Given the description of an element on the screen output the (x, y) to click on. 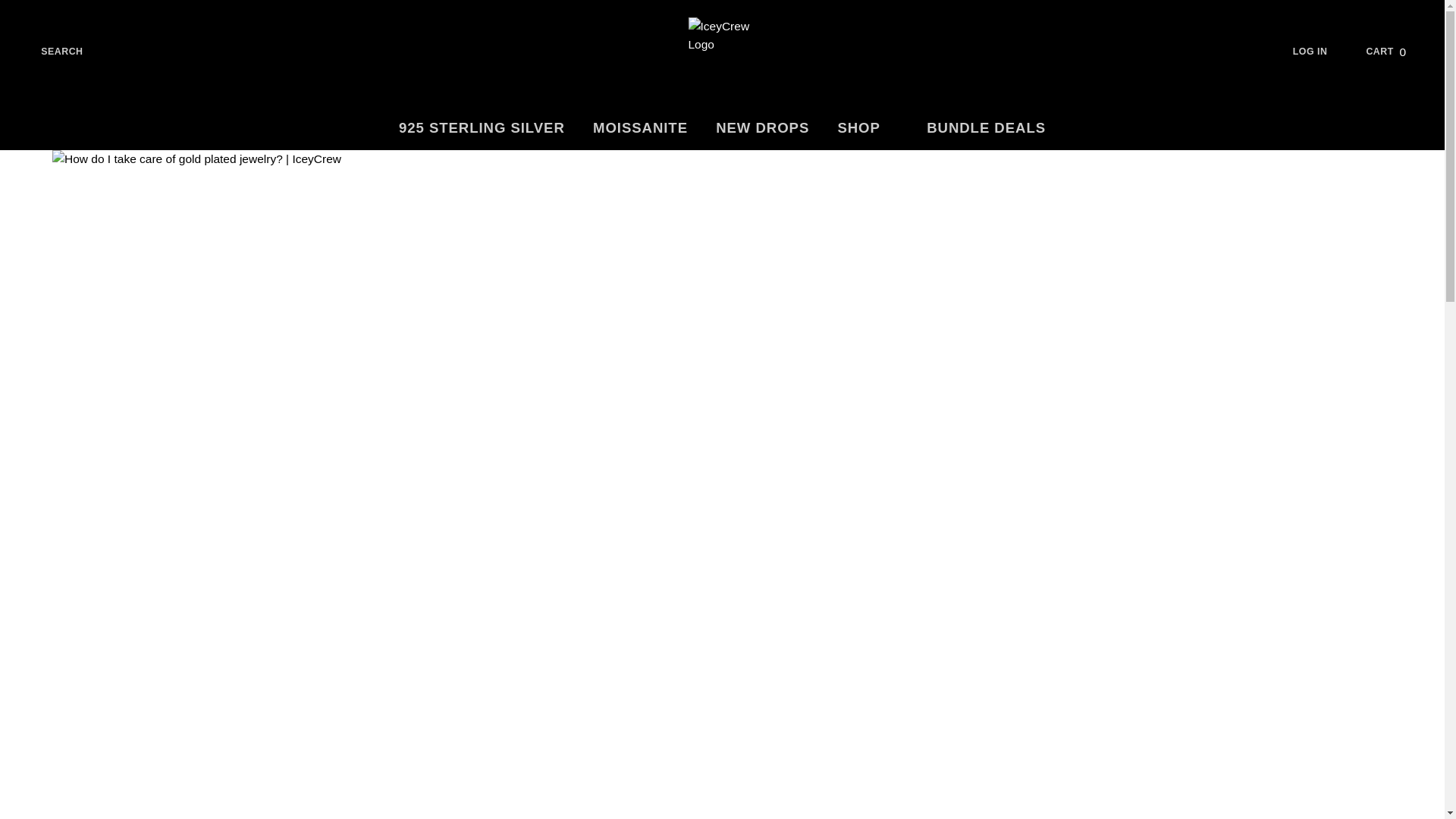
LOG IN (1321, 51)
SHOP (1395, 51)
SEARCH (868, 128)
925 STERLING SILVER (49, 51)
BUNDLE DEALS (481, 128)
MOISSANITE (985, 128)
NEW DROPS (639, 128)
